Given the description of an element on the screen output the (x, y) to click on. 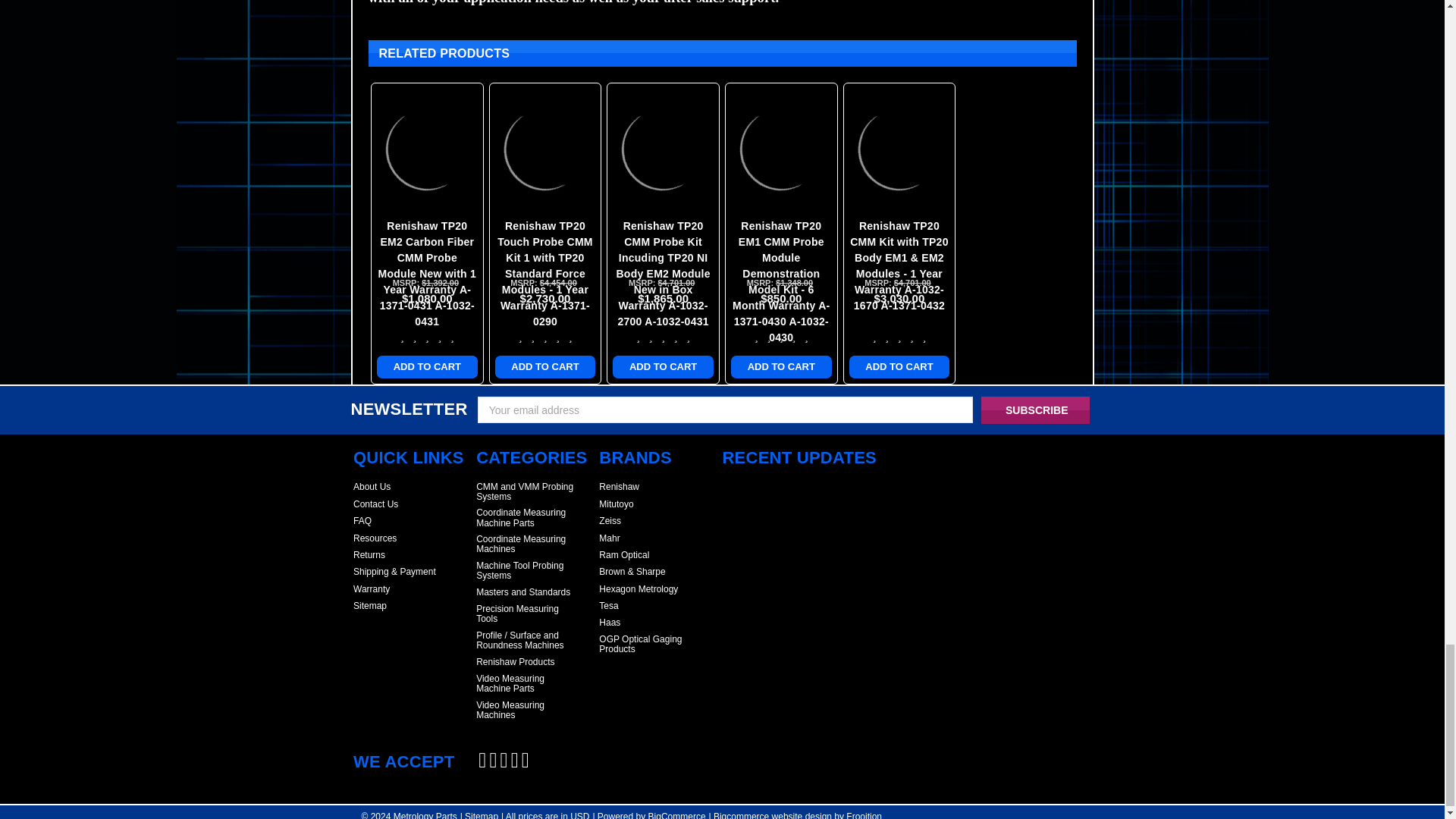
Subscribe (1035, 410)
